Given the description of an element on the screen output the (x, y) to click on. 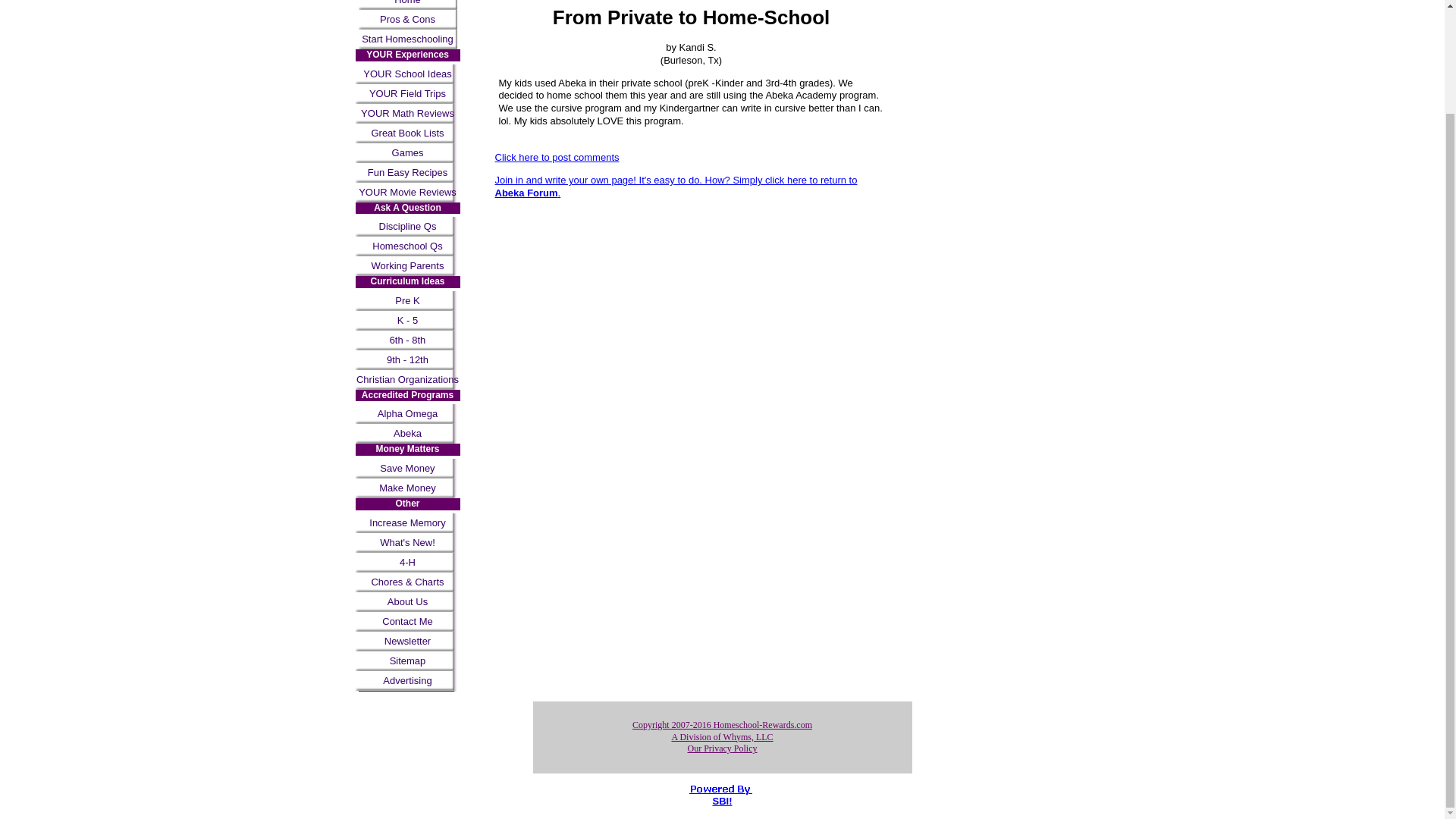
Discipline Qs (407, 226)
6th - 8th (407, 340)
Save Money (407, 468)
YOUR Field Trips (407, 94)
YOUR Movie Reviews (407, 192)
Great Book Lists (407, 133)
Fun Easy Recipes (407, 172)
Newsletter (407, 641)
9th - 12th (407, 360)
Increase Memory (407, 523)
Click here to post comments (556, 156)
Homeschool Qs (407, 246)
Make Money (407, 487)
